Given the description of an element on the screen output the (x, y) to click on. 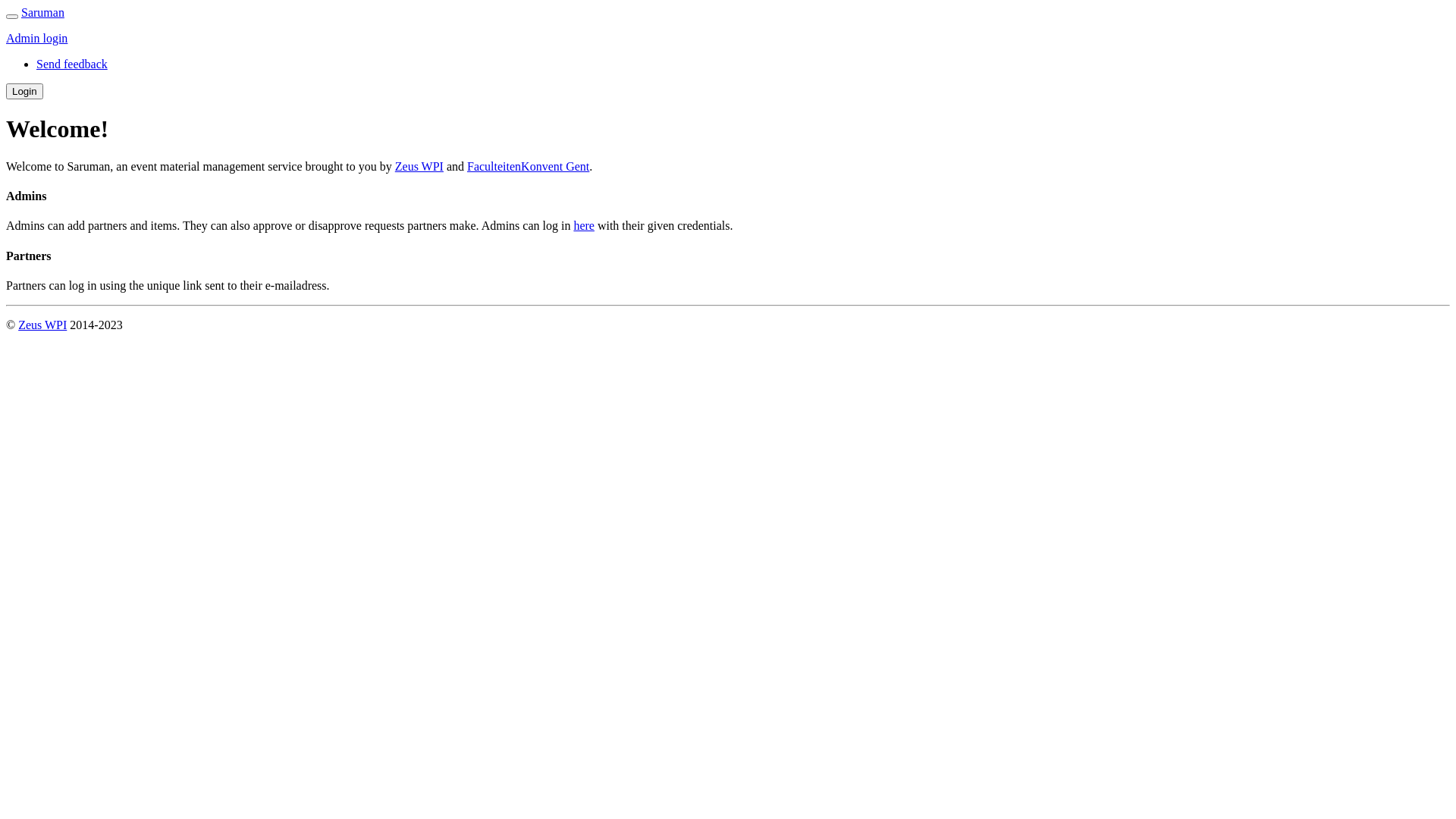
Admin login Element type: text (36, 37)
here Element type: text (583, 225)
Zeus WPI Element type: text (419, 166)
Saruman Element type: text (42, 12)
FaculteitenKonvent Gent Element type: text (528, 166)
Zeus WPI Element type: text (42, 324)
Send feedback Element type: text (71, 63)
Login Element type: text (24, 91)
